Given the description of an element on the screen output the (x, y) to click on. 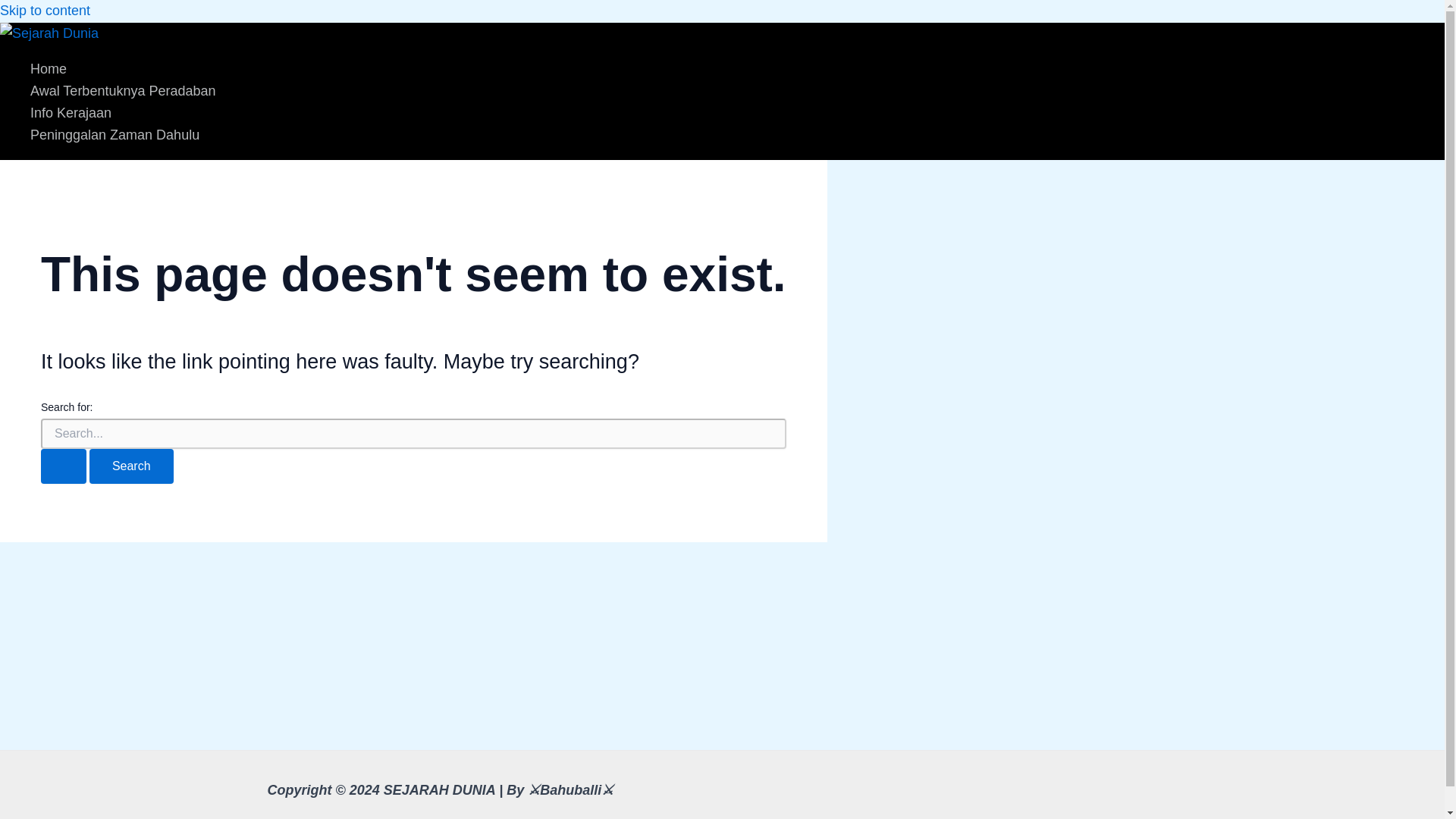
Peninggalan Zaman Dahulu (122, 135)
Info Kerajaan (122, 113)
Search (130, 466)
Awal Terbentuknya Peradaban (122, 91)
Search (130, 466)
Home (122, 69)
Skip to content (45, 10)
Skip to content (45, 10)
Search (130, 466)
